Given the description of an element on the screen output the (x, y) to click on. 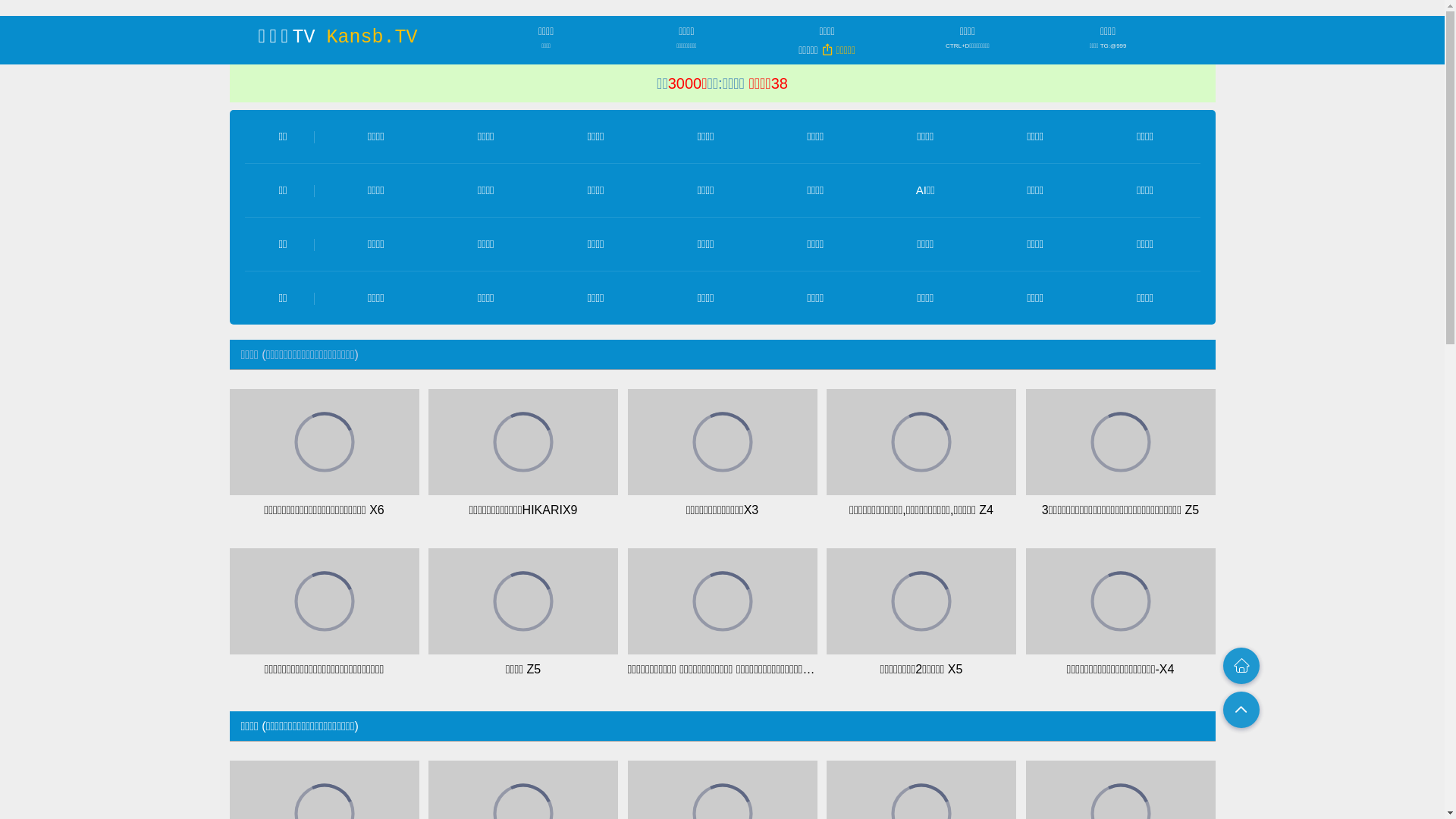
MAID IN HEAVEN SuperS Vol-X4 Element type: hover (323, 442)
Angel Smalls-X4 Element type: hover (921, 442)
Kansb.TV Element type: text (371, 37)
